Given the description of an element on the screen output the (x, y) to click on. 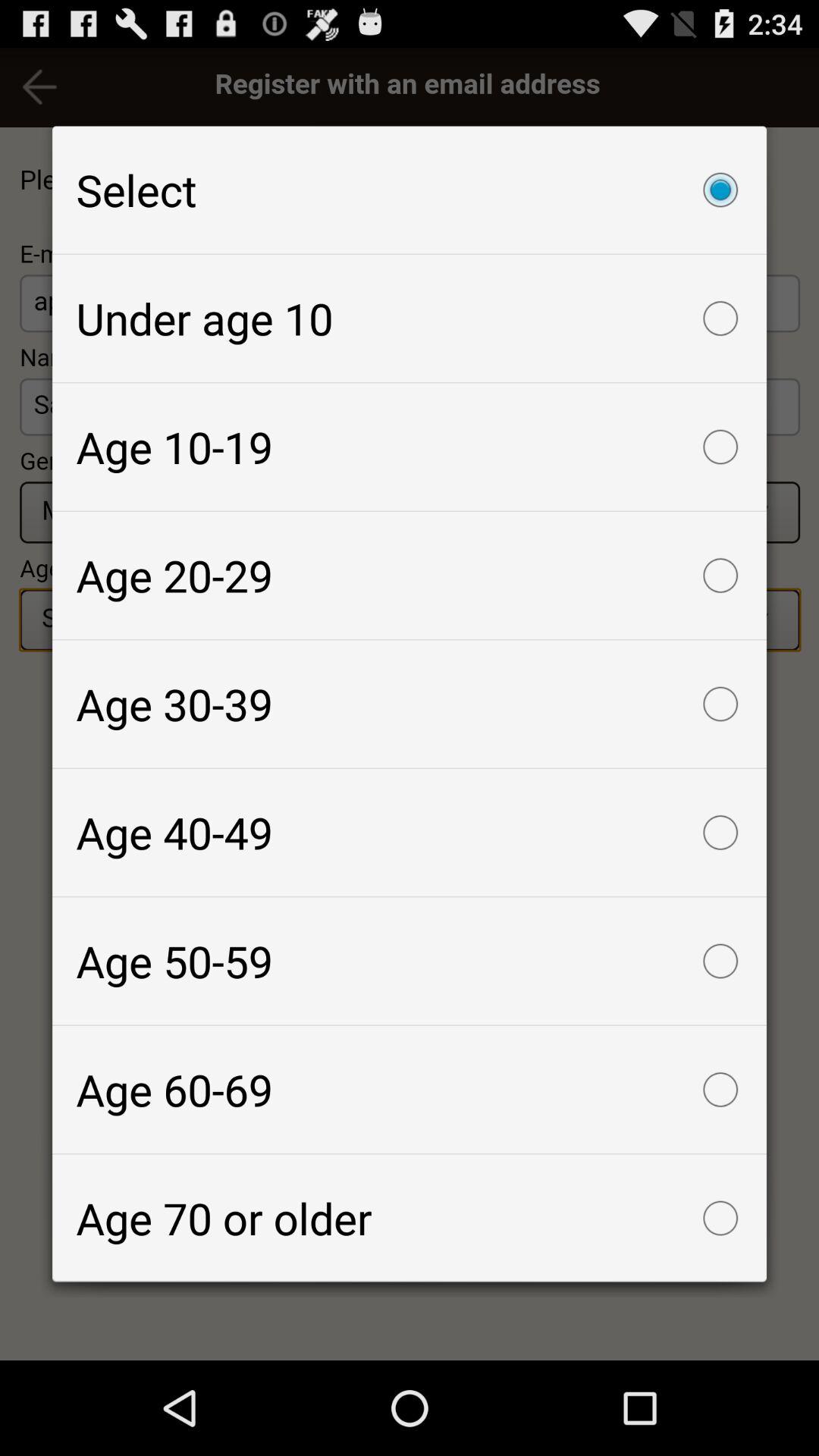
swipe to age 40-49 icon (409, 832)
